Given the description of an element on the screen output the (x, y) to click on. 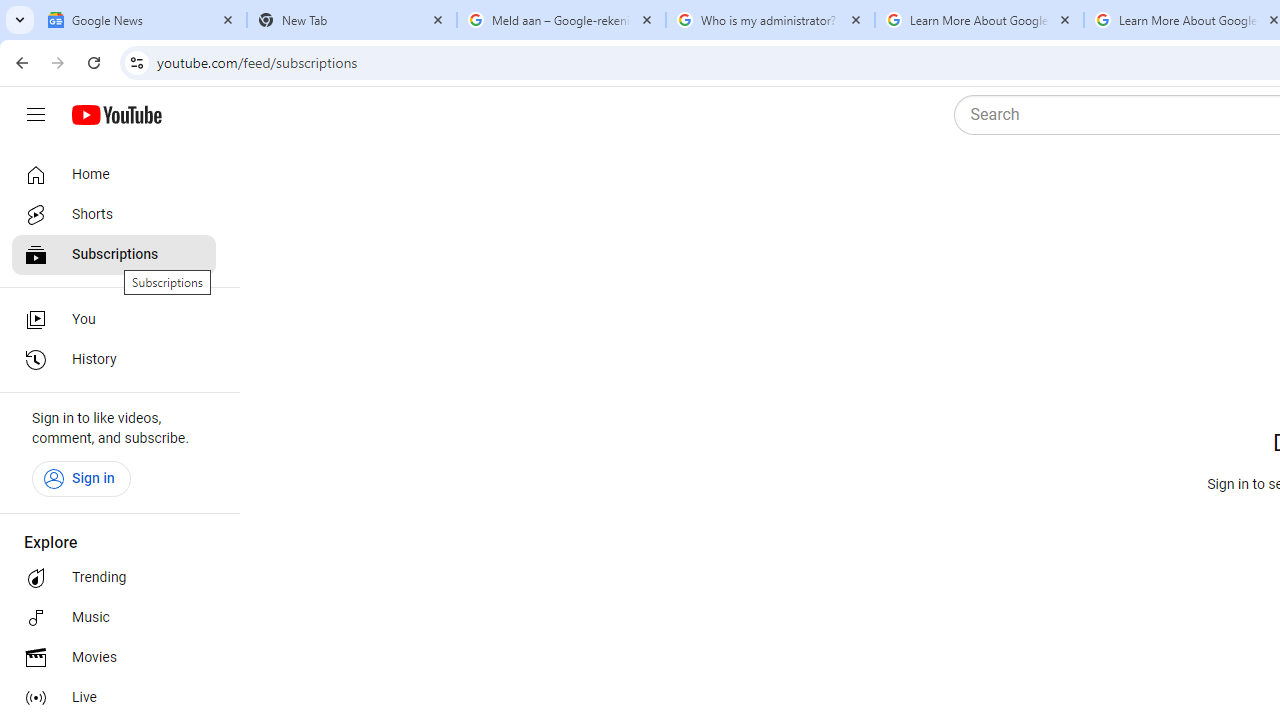
Shading No Color (982, 180)
Undo Apply Quick Style Set (290, 31)
